Given the description of an element on the screen output the (x, y) to click on. 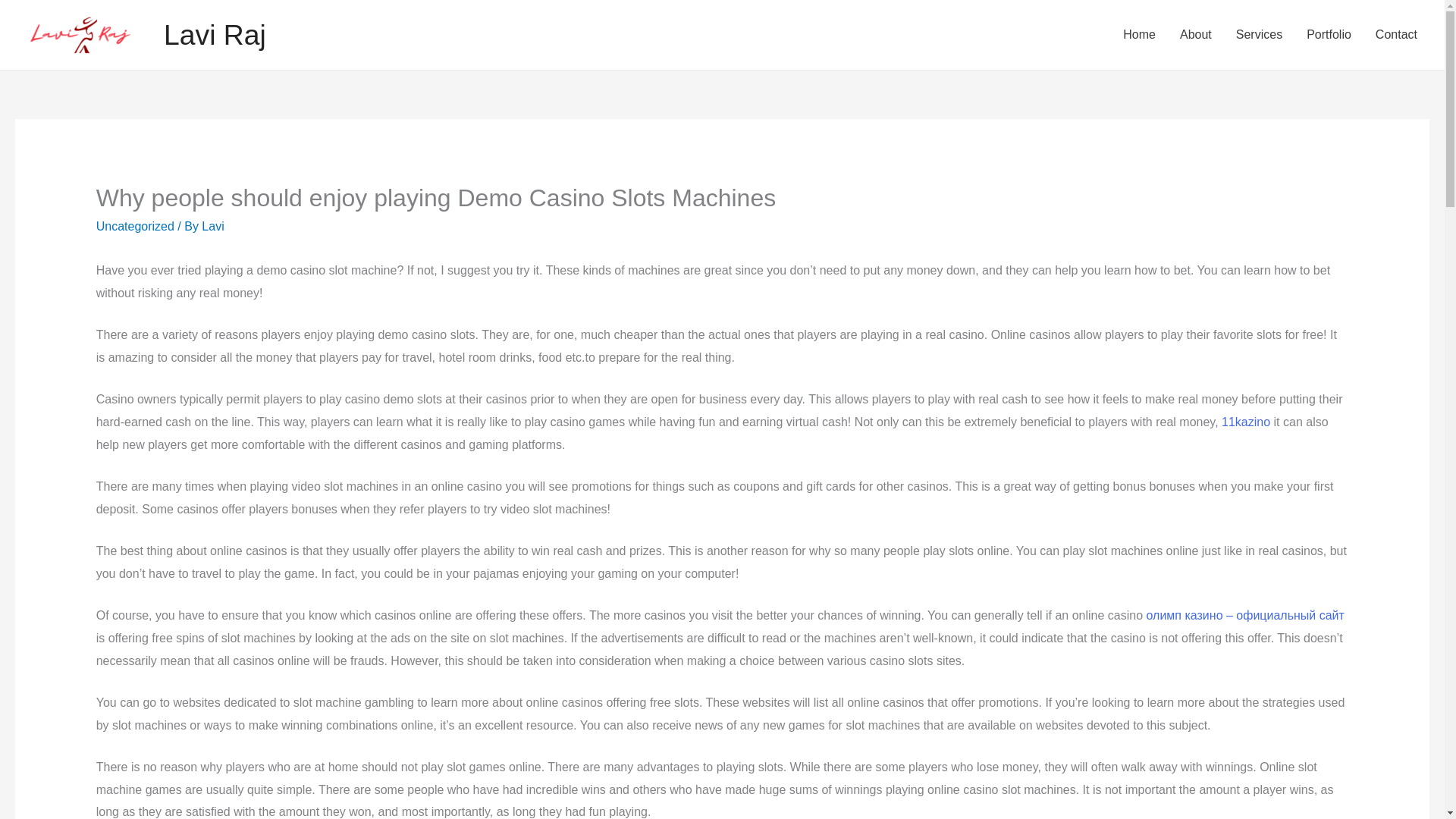
View all posts by Lavi (213, 226)
Services (1259, 34)
Uncategorized (135, 226)
Lavi (213, 226)
Home (1138, 34)
Contact (1395, 34)
Portfolio (1328, 34)
About (1195, 34)
11kazino (1245, 421)
Lavi Raj (214, 34)
